Given the description of an element on the screen output the (x, y) to click on. 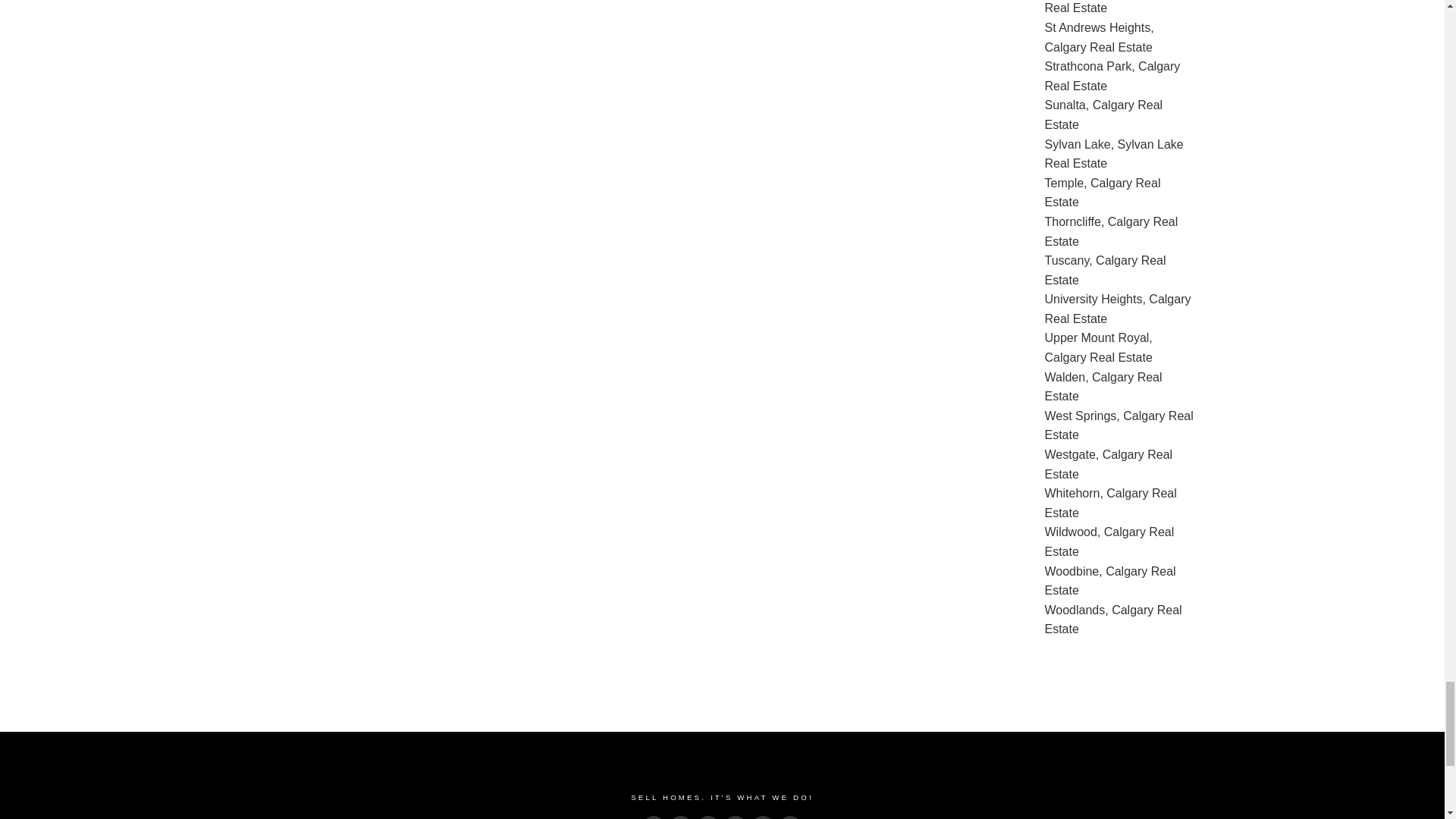
YouTube (762, 817)
Twitter (680, 817)
linkedin (708, 817)
Blog (789, 817)
Rank My Agent (735, 817)
Facebook (653, 817)
